Given the description of an element on the screen output the (x, y) to click on. 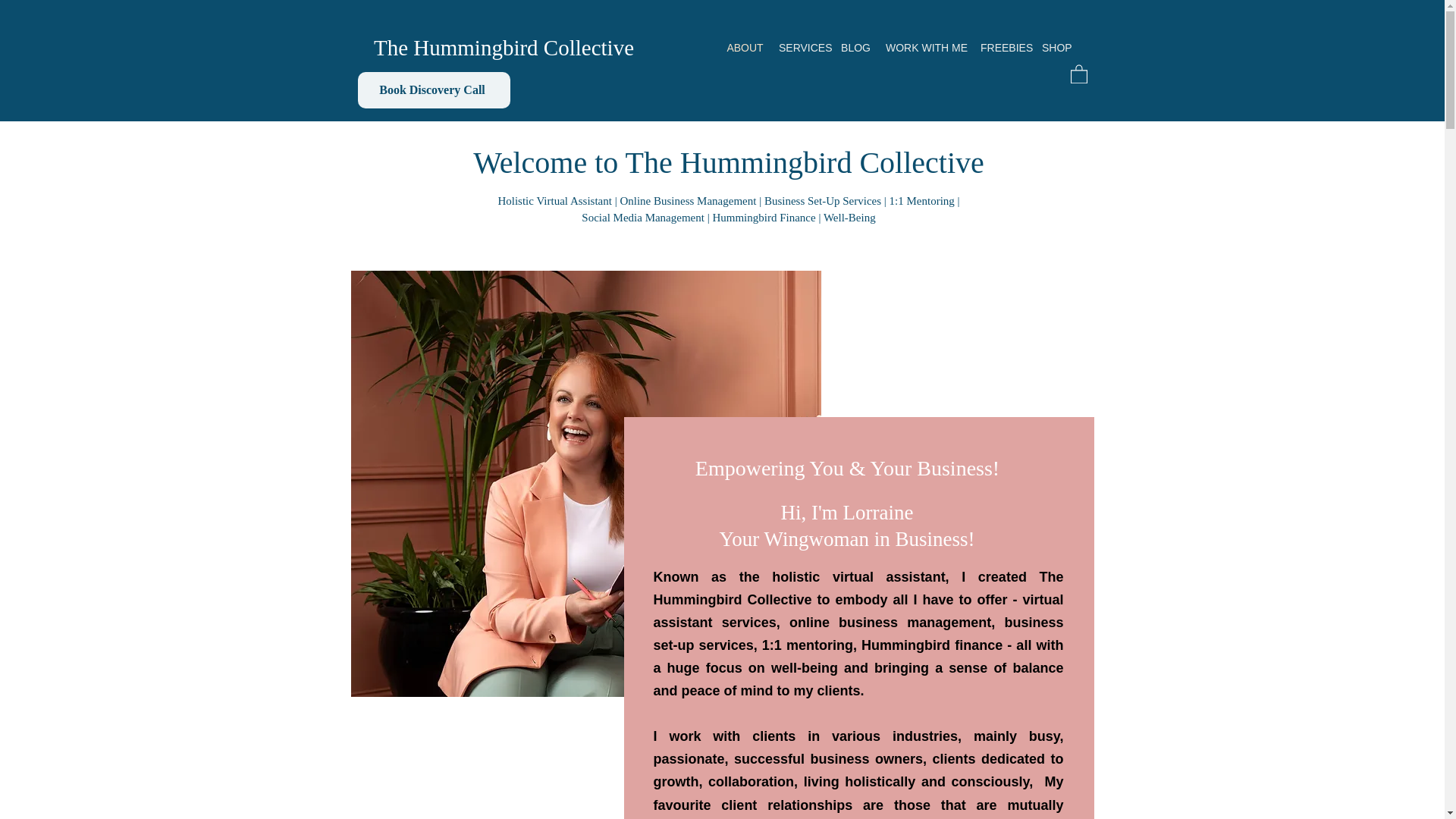
The Hummingbird Collective (503, 47)
BLOG (854, 47)
SERVICES (801, 47)
Book Discovery Call (434, 90)
WORK WITH ME (924, 47)
ABOUT (745, 47)
FREEBIES (1002, 47)
SHOP (1055, 47)
